Given the description of an element on the screen output the (x, y) to click on. 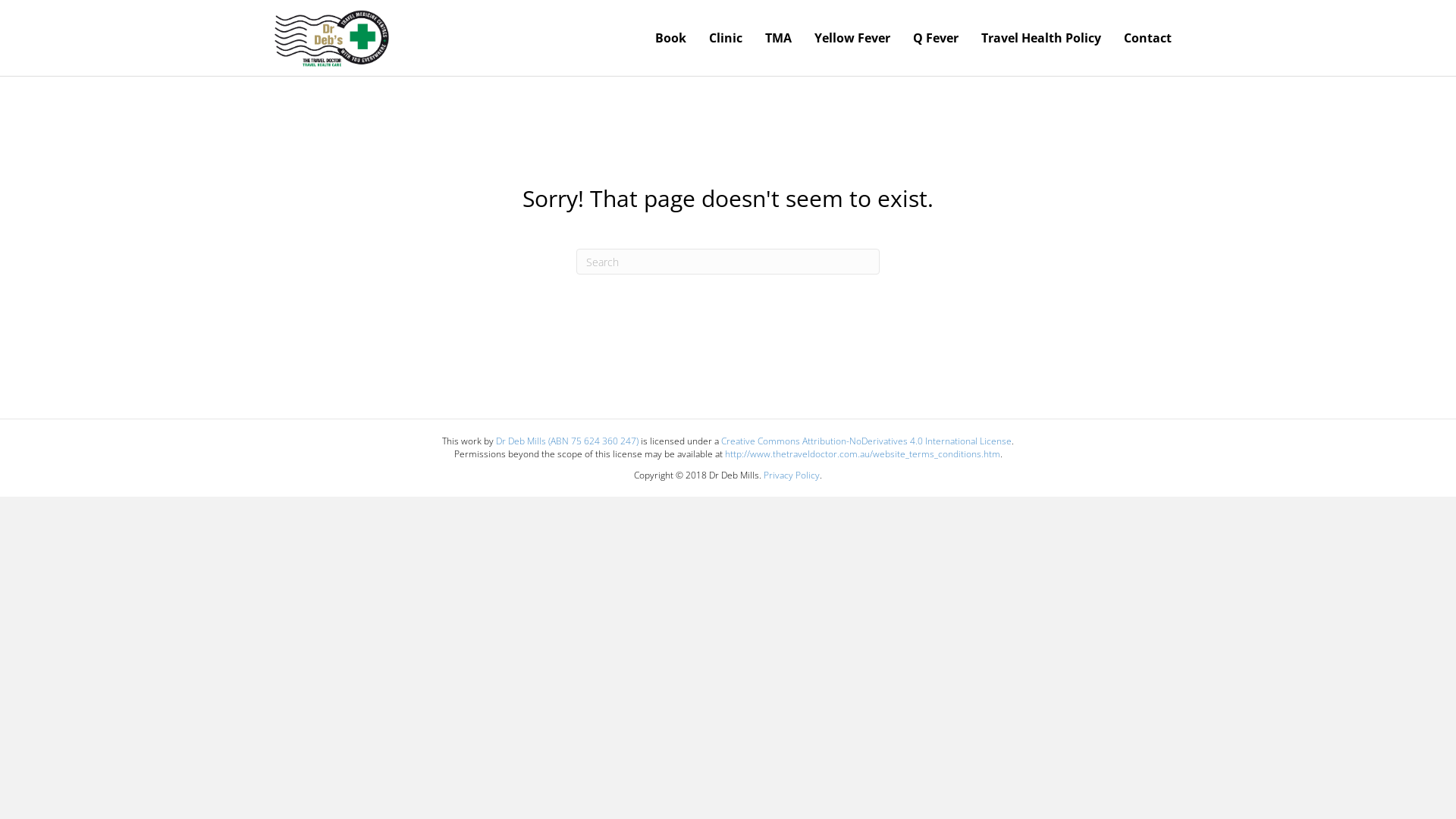
Q Fever Element type: text (935, 37)
Yellow Fever Element type: text (852, 37)
TMA Element type: text (778, 37)
Contact Element type: text (1147, 37)
Clinic Element type: text (725, 37)
Book Element type: text (670, 37)
Type and press Enter to search. Element type: hover (727, 261)
Travel Health Policy Element type: text (1040, 37)
Privacy Policy Element type: text (791, 474)
Dr Deb Mills (ABN 75 624 360 247) Element type: text (566, 440)
